Given the description of an element on the screen output the (x, y) to click on. 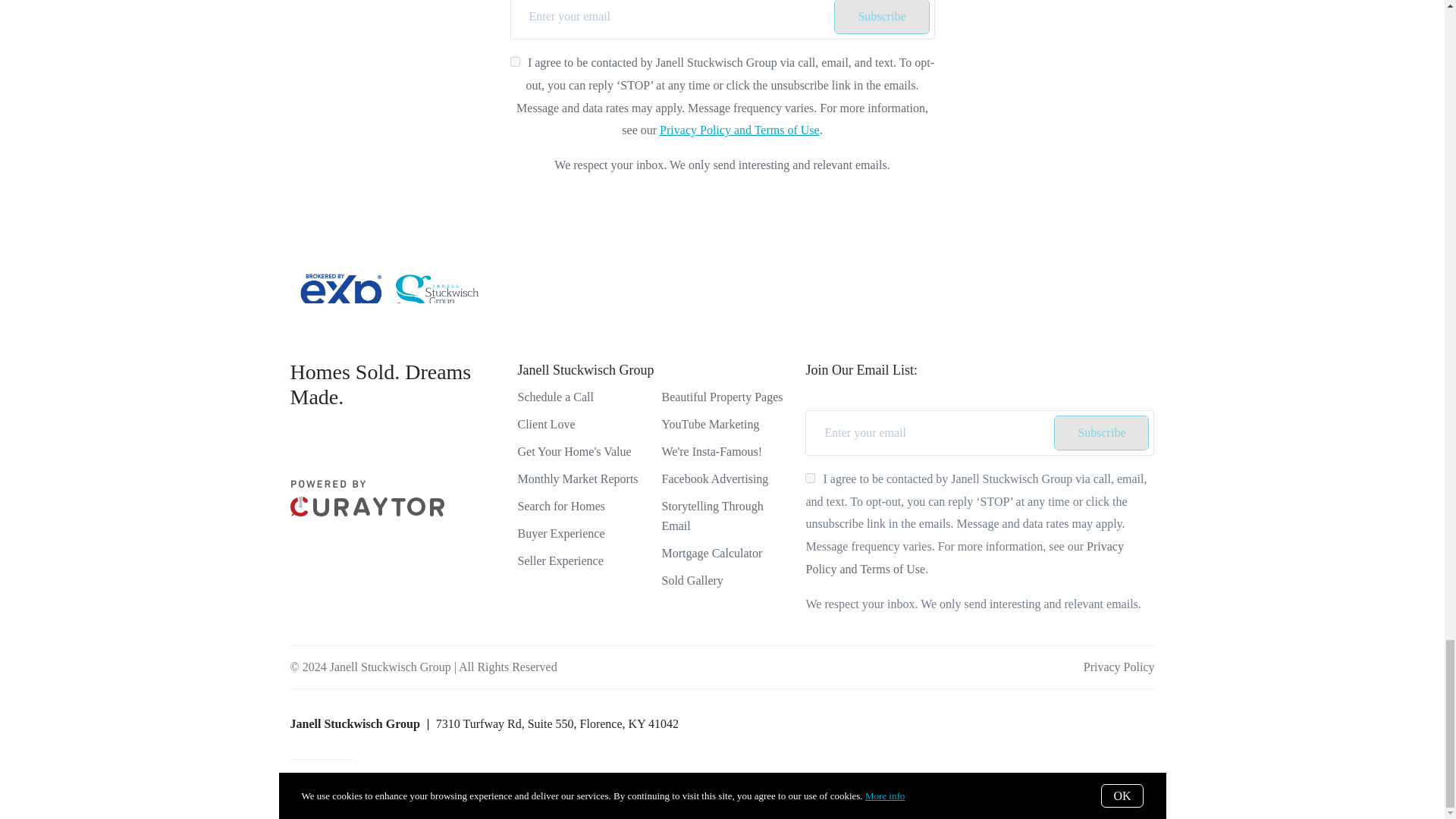
Client Love (545, 423)
Privacy Policy and Terms of Use (739, 129)
curaytor-horizontal (366, 497)
on (515, 61)
curaytor-horizontal (366, 512)
Search for Homes (560, 505)
Monthly Market Reports (576, 478)
Get Your Home's Value (573, 451)
Beautiful Property Pages (722, 396)
YouTube Marketing (709, 423)
Seller Experience (559, 560)
Schedule a Call (554, 396)
Subscribe (881, 17)
on (810, 478)
Buyer Experience (560, 533)
